Given the description of an element on the screen output the (x, y) to click on. 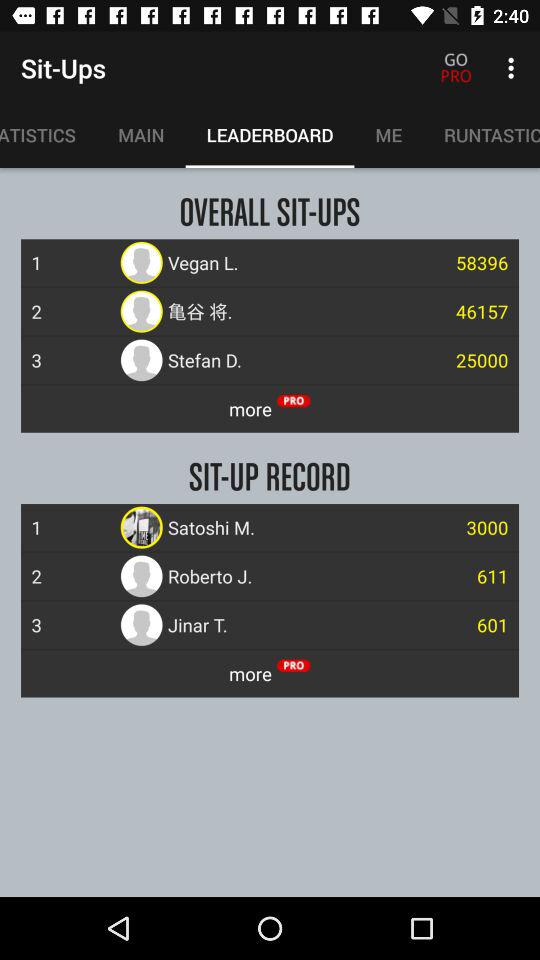
choose item next to main (48, 135)
